Given the description of an element on the screen output the (x, y) to click on. 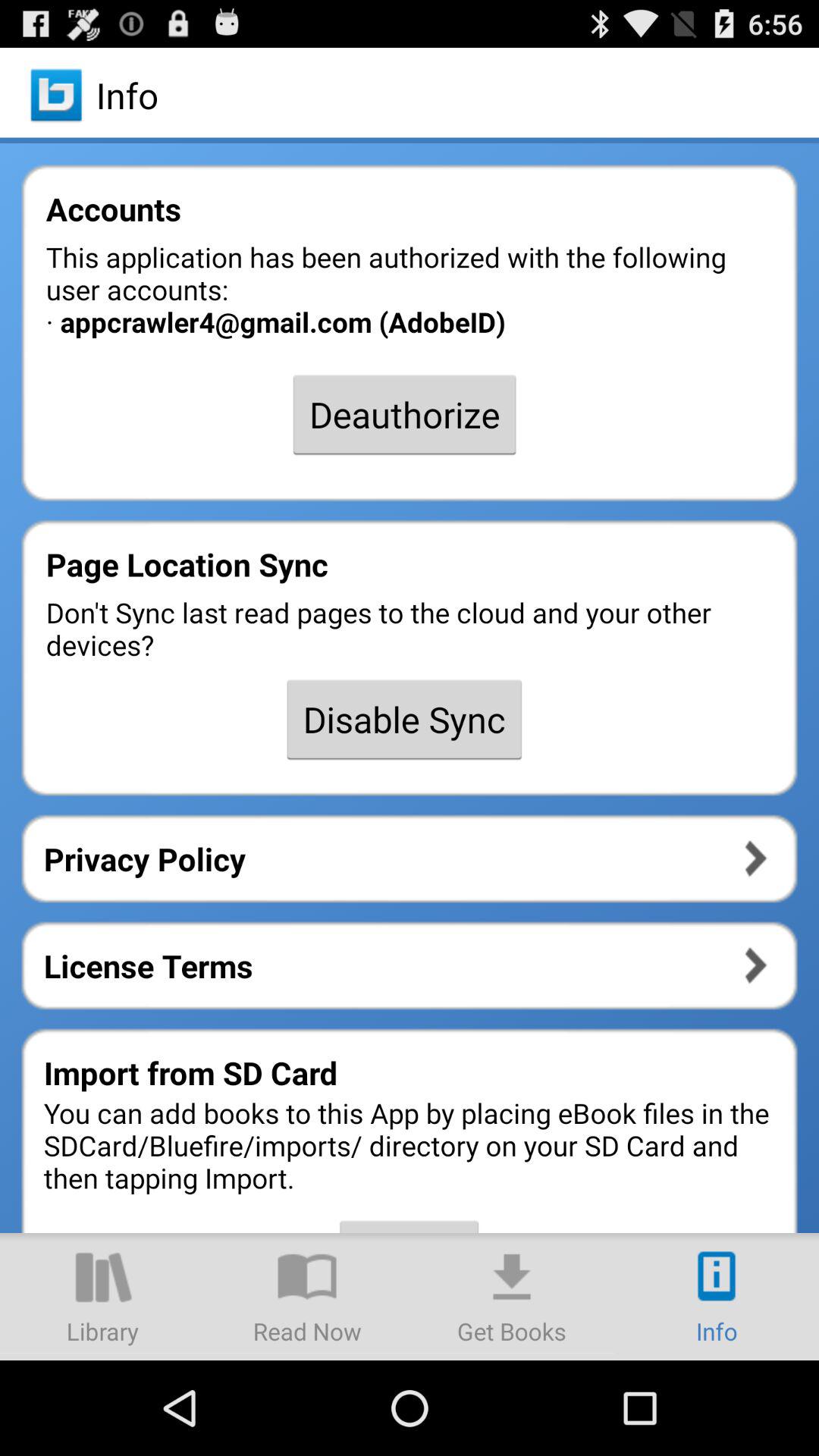
turn on item at the bottom right corner (716, 1296)
